Given the description of an element on the screen output the (x, y) to click on. 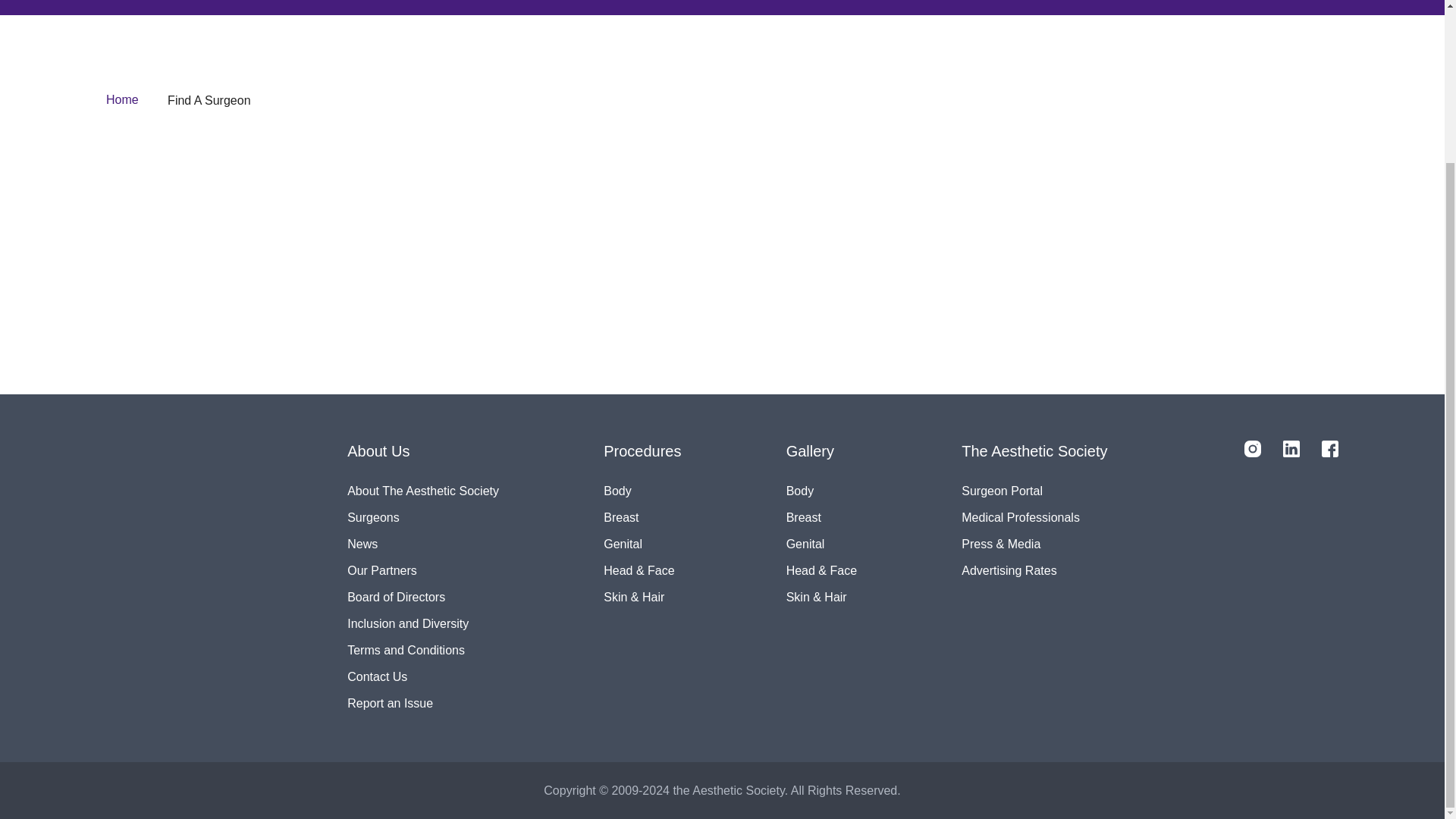
Medical Professionals (1033, 517)
Genital (642, 543)
The Aesthetic Society Inclusion and Diversity Statement (423, 623)
About The Aesthetic Society (423, 490)
Contact Us (423, 676)
Genital (821, 543)
Our Partners (423, 570)
Board of Directors (423, 596)
